Given the description of an element on the screen output the (x, y) to click on. 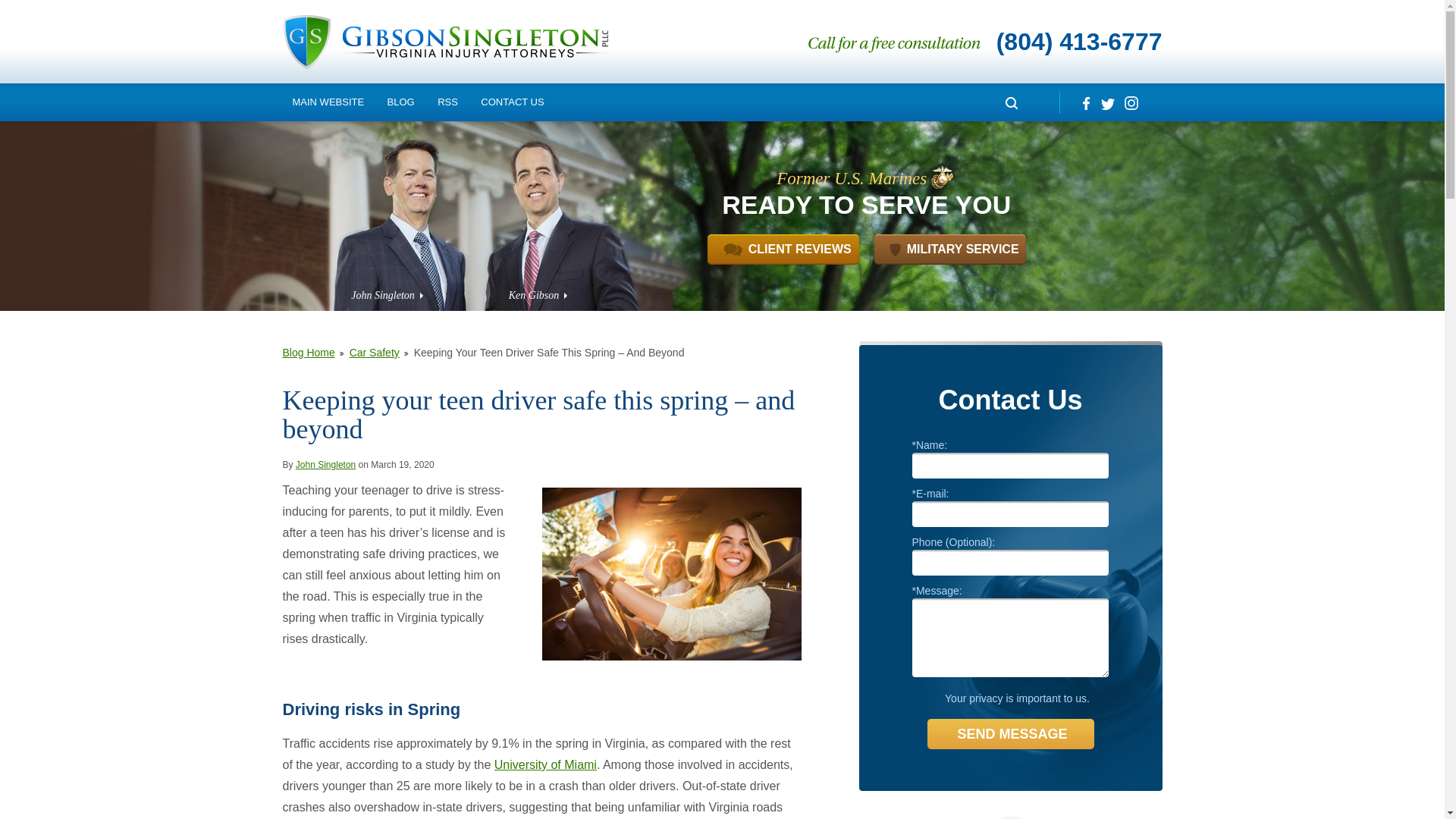
BLOG (401, 102)
CONTACT US (511, 102)
CLIENT REVIEWS (783, 249)
Blog Home (312, 352)
RSS (447, 102)
Car Safety (379, 352)
Follow us on Facebook (1085, 101)
Ken Gibson (536, 295)
MILITARY SERVICE (950, 249)
Instagram (1130, 101)
